Given the description of an element on the screen output the (x, y) to click on. 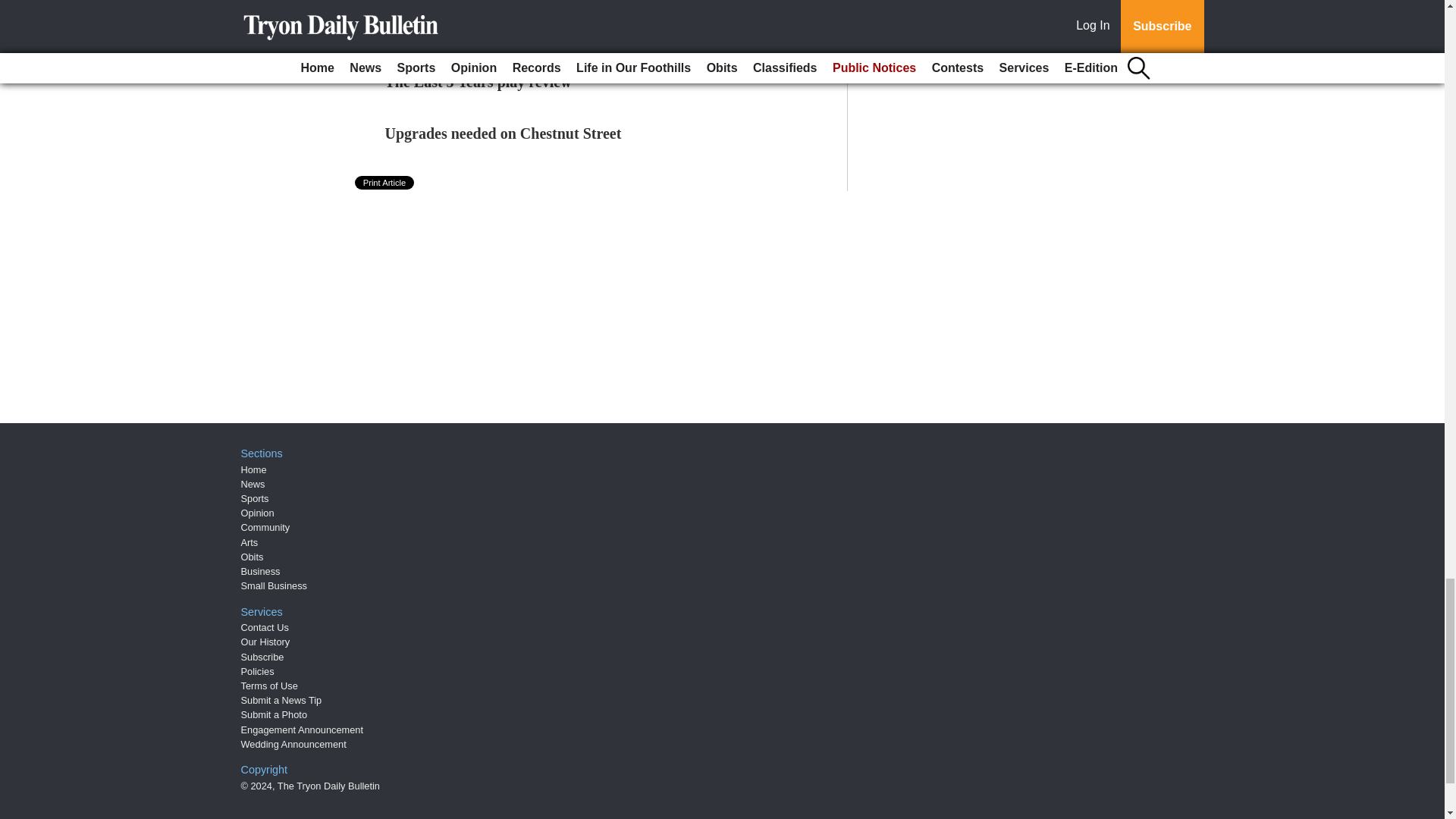
Upgrades needed on Chestnut Street (503, 133)
Concerned about changes to school board (520, 30)
The Last 5 Years play review (478, 81)
